Given the description of an element on the screen output the (x, y) to click on. 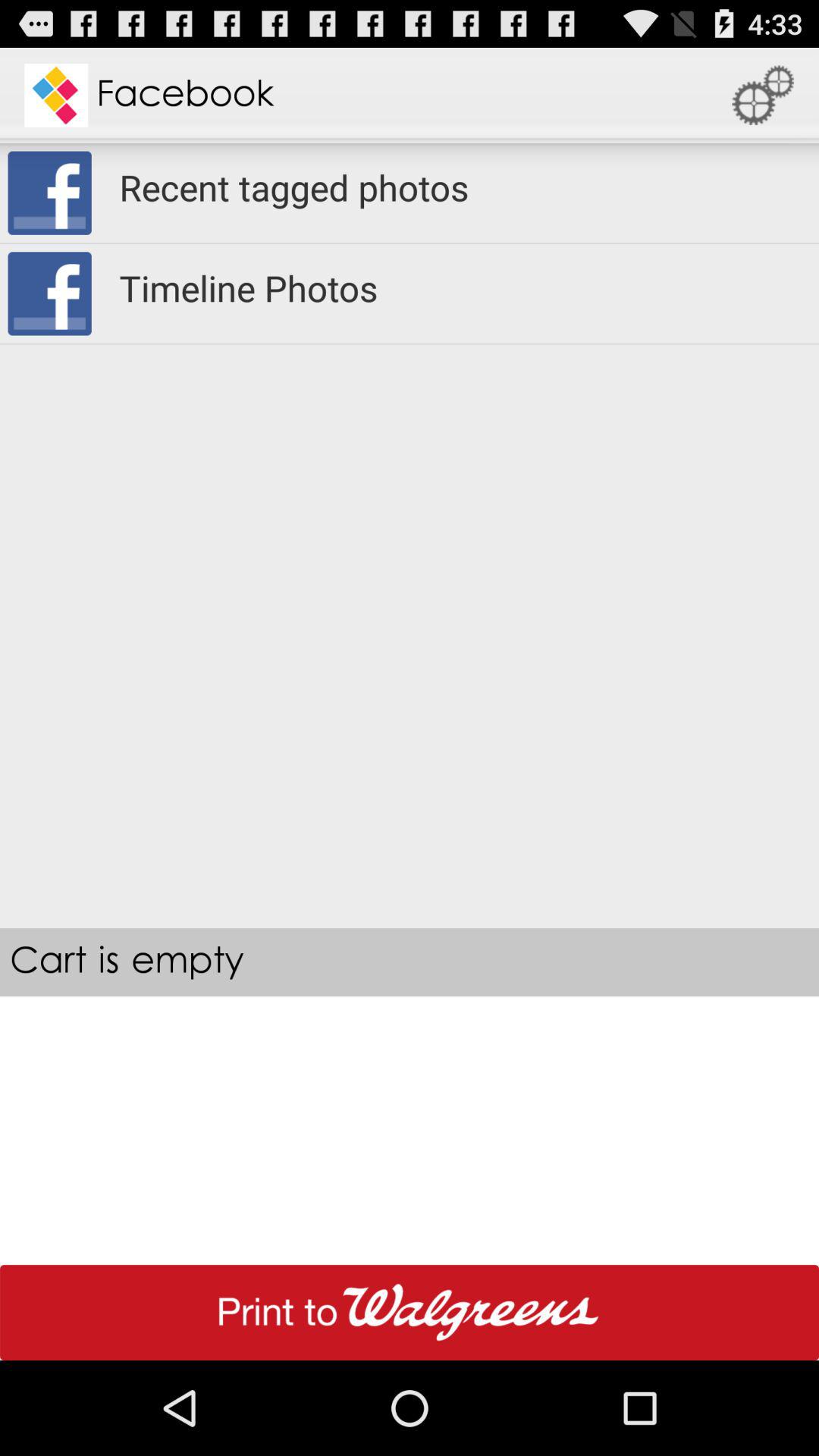
select icon above the recent tagged photos app (763, 95)
